Given the description of an element on the screen output the (x, y) to click on. 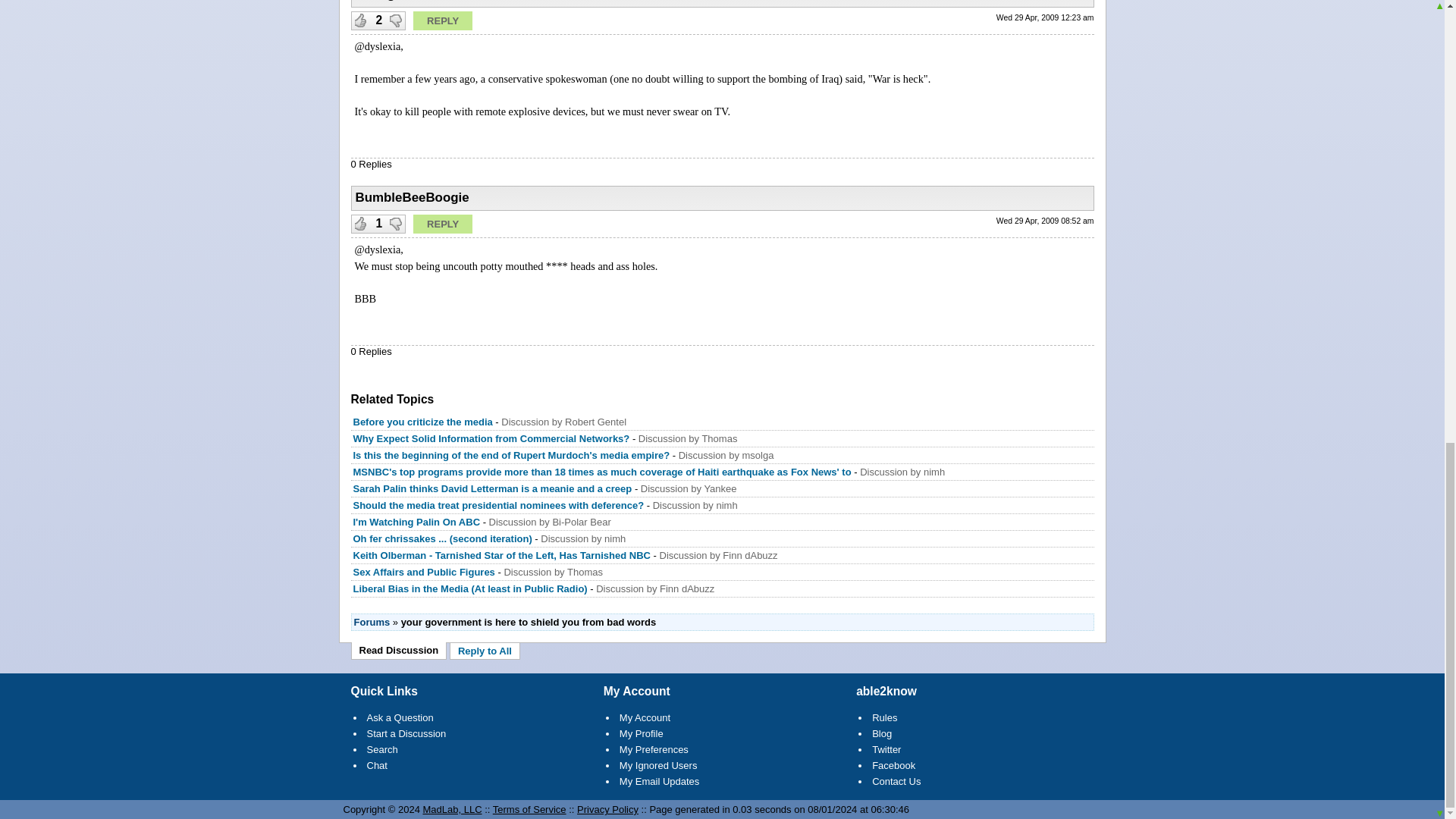
Reply to All (484, 651)
Reply (442, 20)
Why Expect Solid Information from Commercial Networks? (491, 438)
Sex Affairs and Public Figures (424, 572)
Sarah Palin thinks David Letterman is a meanie and a creep (492, 488)
Start a Discussion (406, 733)
Forums (371, 622)
Chat (376, 765)
Search (381, 749)
Before you criticize the media (423, 421)
Ask a Question (399, 717)
I'm Watching Palin On ABC (416, 521)
